Given the description of an element on the screen output the (x, y) to click on. 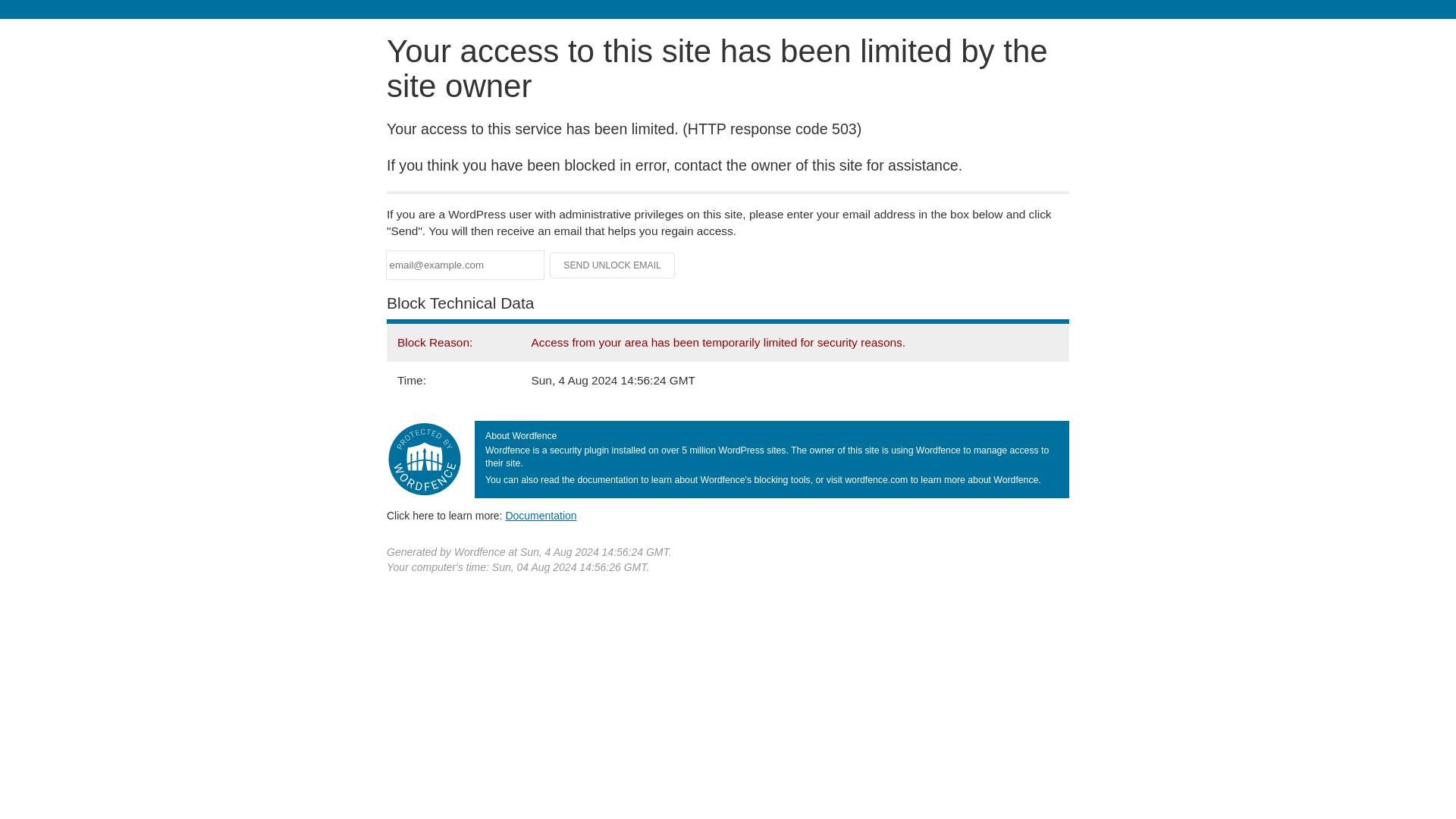
Send Unlock Email (612, 265)
Documentation (540, 515)
Send Unlock Email (612, 265)
